Given the description of an element on the screen output the (x, y) to click on. 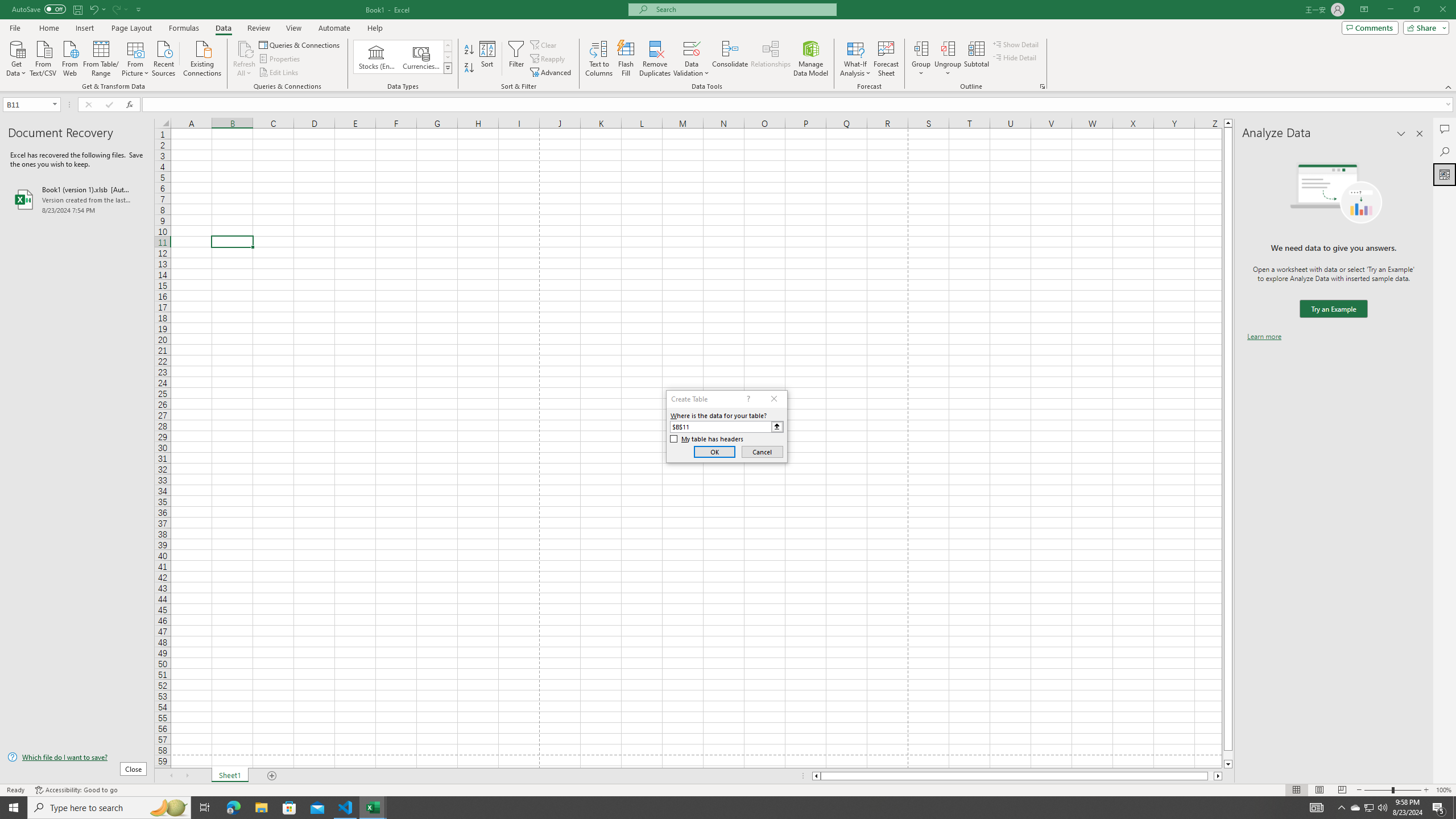
Relationships (770, 58)
Clear (544, 44)
What-If Analysis (855, 58)
Existing Connections (202, 57)
Class: MsoCommandBar (728, 45)
Sort... (487, 58)
